Given the description of an element on the screen output the (x, y) to click on. 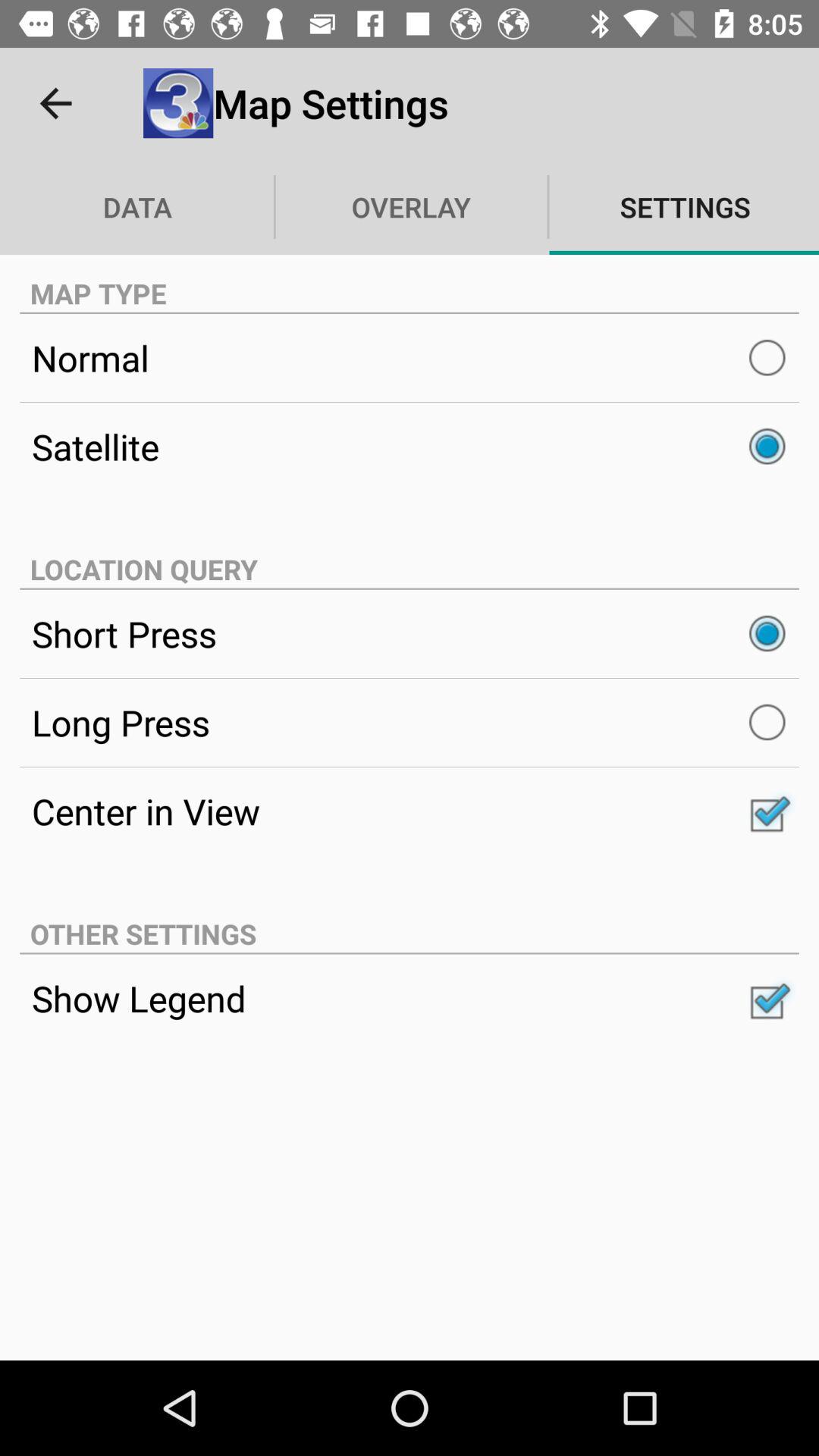
tap icon below normal (409, 446)
